Given the description of an element on the screen output the (x, y) to click on. 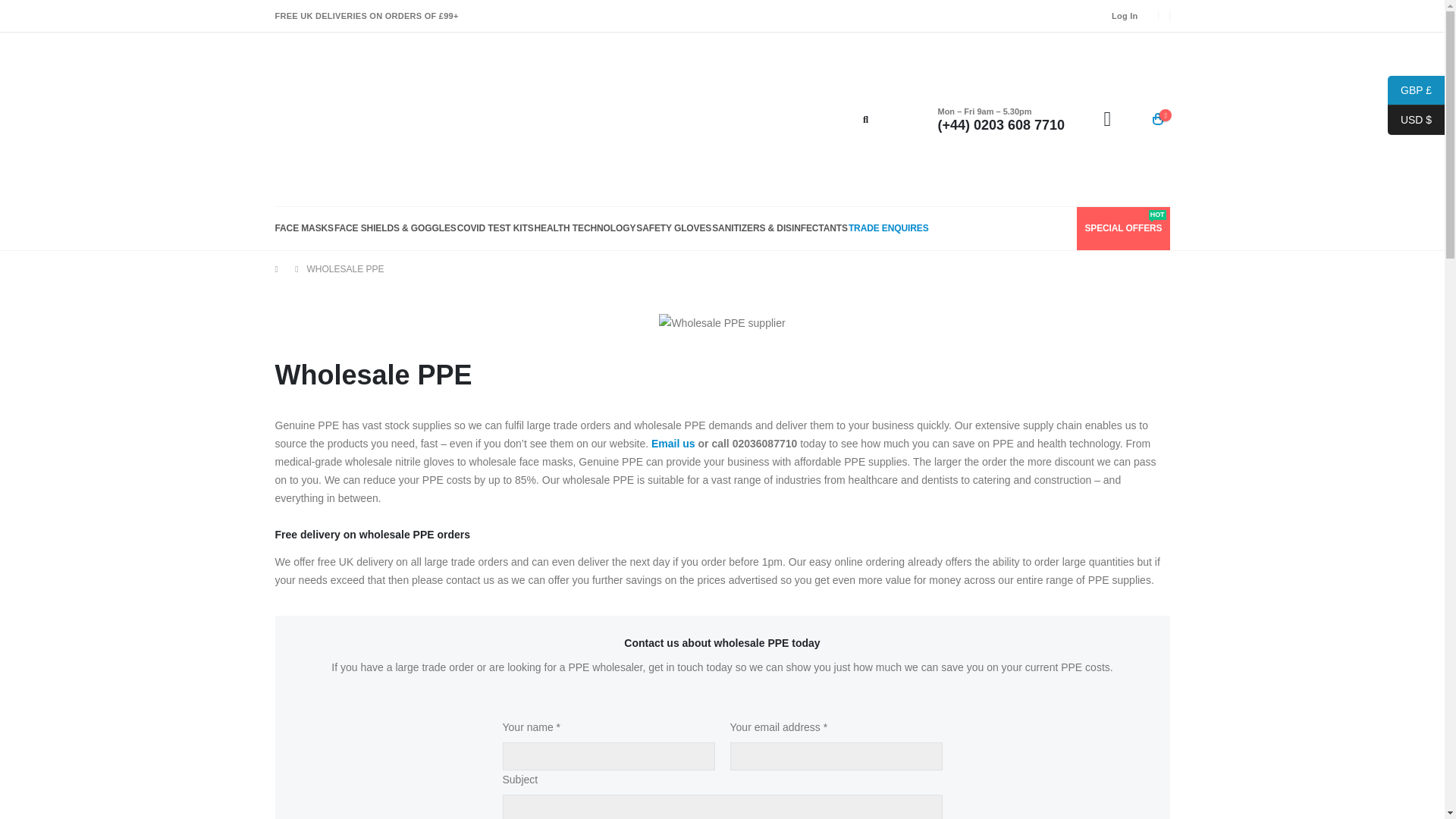
HEALTH TECHNOLOGY (585, 228)
SAFETY GLOVES (673, 228)
Email us (1122, 228)
FACE MASKS (672, 443)
TRADE ENQUIRES (304, 228)
Genuine PPE - Reliable PPE Suppliers (888, 228)
COVID TEST KITS (341, 119)
Log In (495, 228)
My Account (1125, 15)
